Given the description of an element on the screen output the (x, y) to click on. 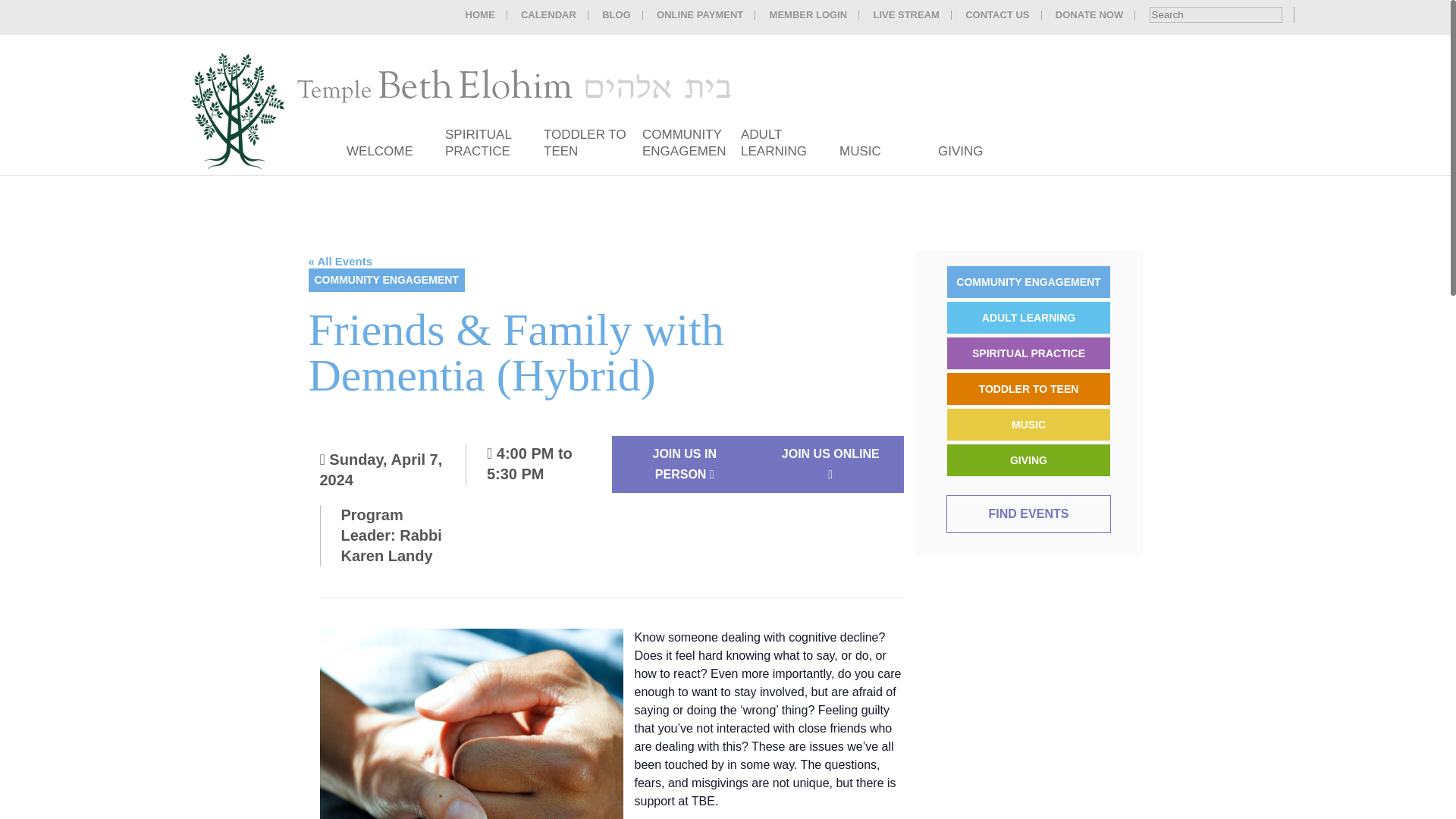
WELCOME (379, 157)
LIVE STREAM (905, 14)
CALENDAR (548, 14)
BLOG (616, 14)
HOME (480, 14)
ONLINE PAYMENT (699, 14)
SPIRITUAL PRACTICE (478, 148)
DONATE NOW (1088, 14)
MEMBER LOGIN (808, 14)
